Given the description of an element on the screen output the (x, y) to click on. 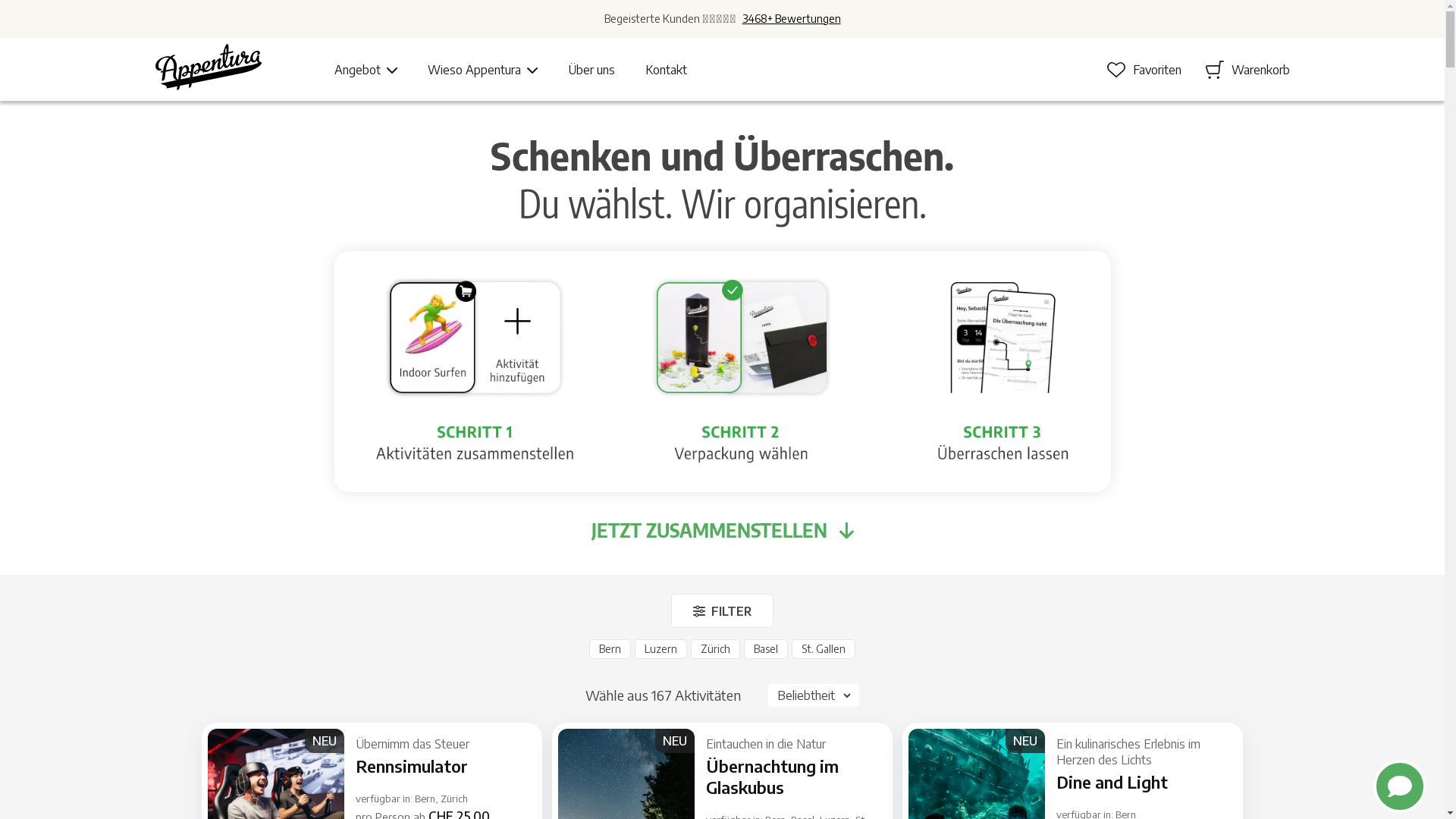
Kontakt Element type: text (665, 69)
JETZT ZUSAMMENSTELLEN Element type: text (722, 530)
3468+ Bewertungen Element type: text (790, 18)
